Given the description of an element on the screen output the (x, y) to click on. 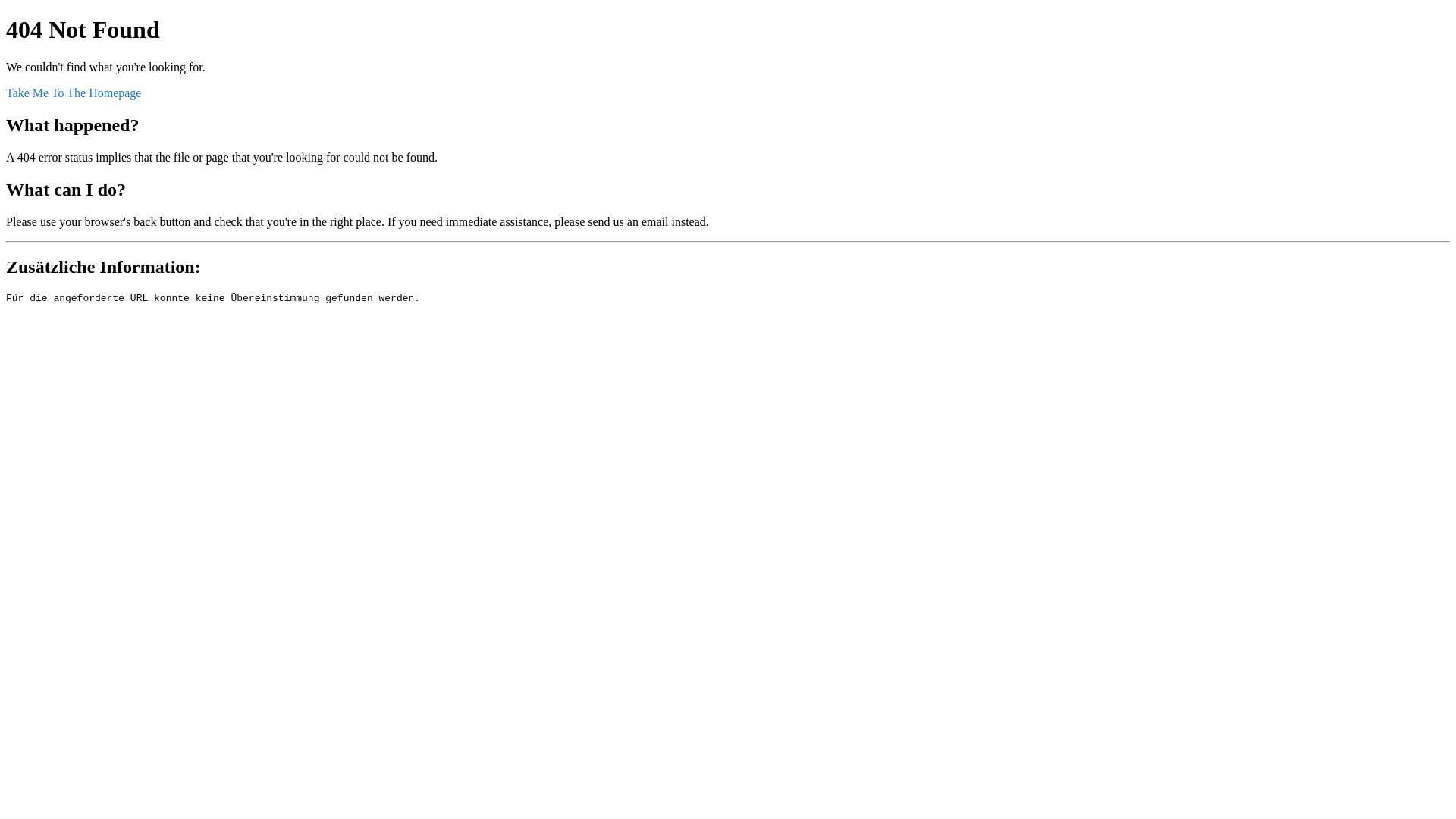
Take Me To The Homepage Element type: text (73, 92)
